Given the description of an element on the screen output the (x, y) to click on. 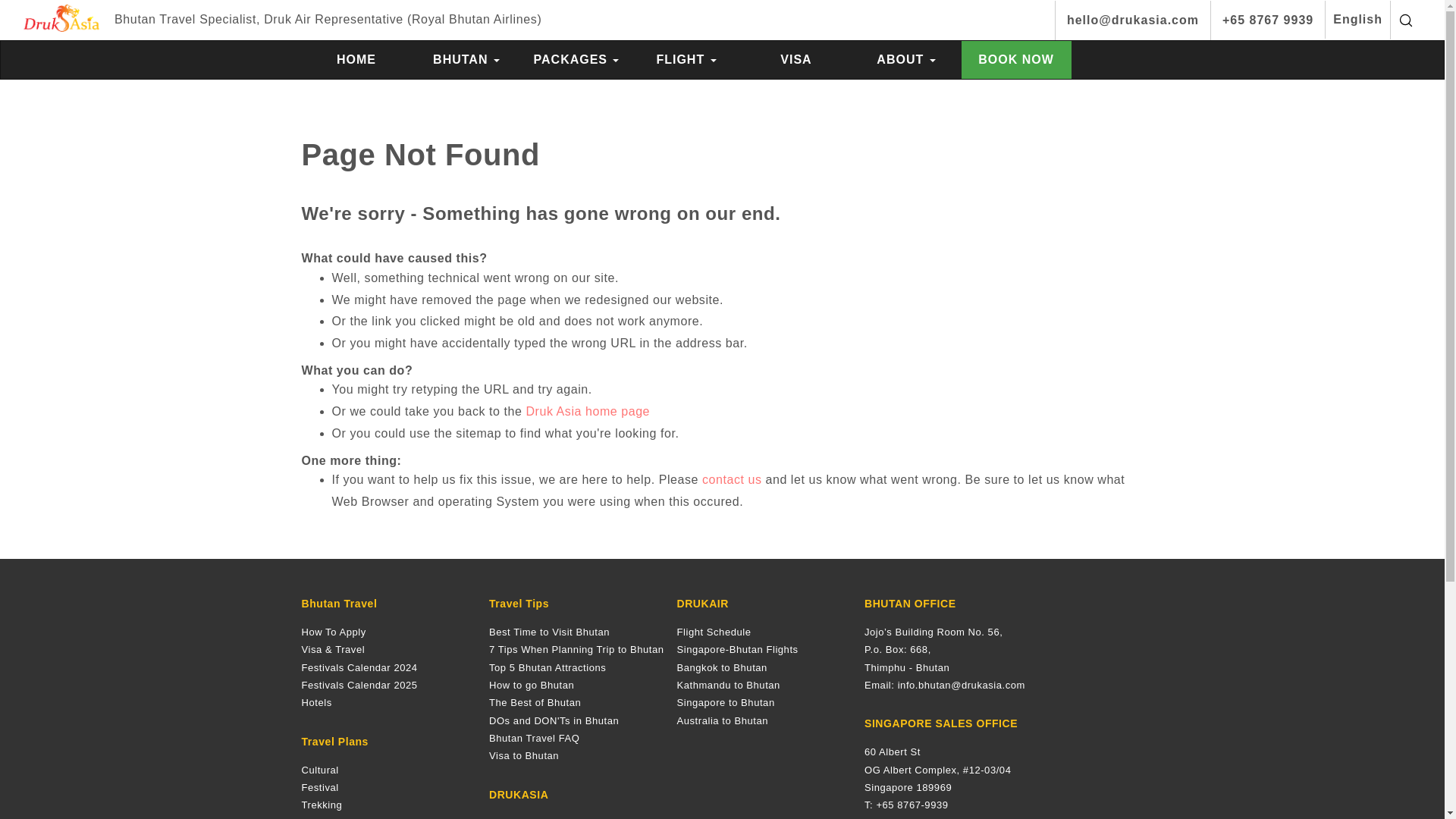
English (1357, 19)
PACKAGES (576, 59)
BHUTAN (465, 59)
HOME (356, 59)
